Given the description of an element on the screen output the (x, y) to click on. 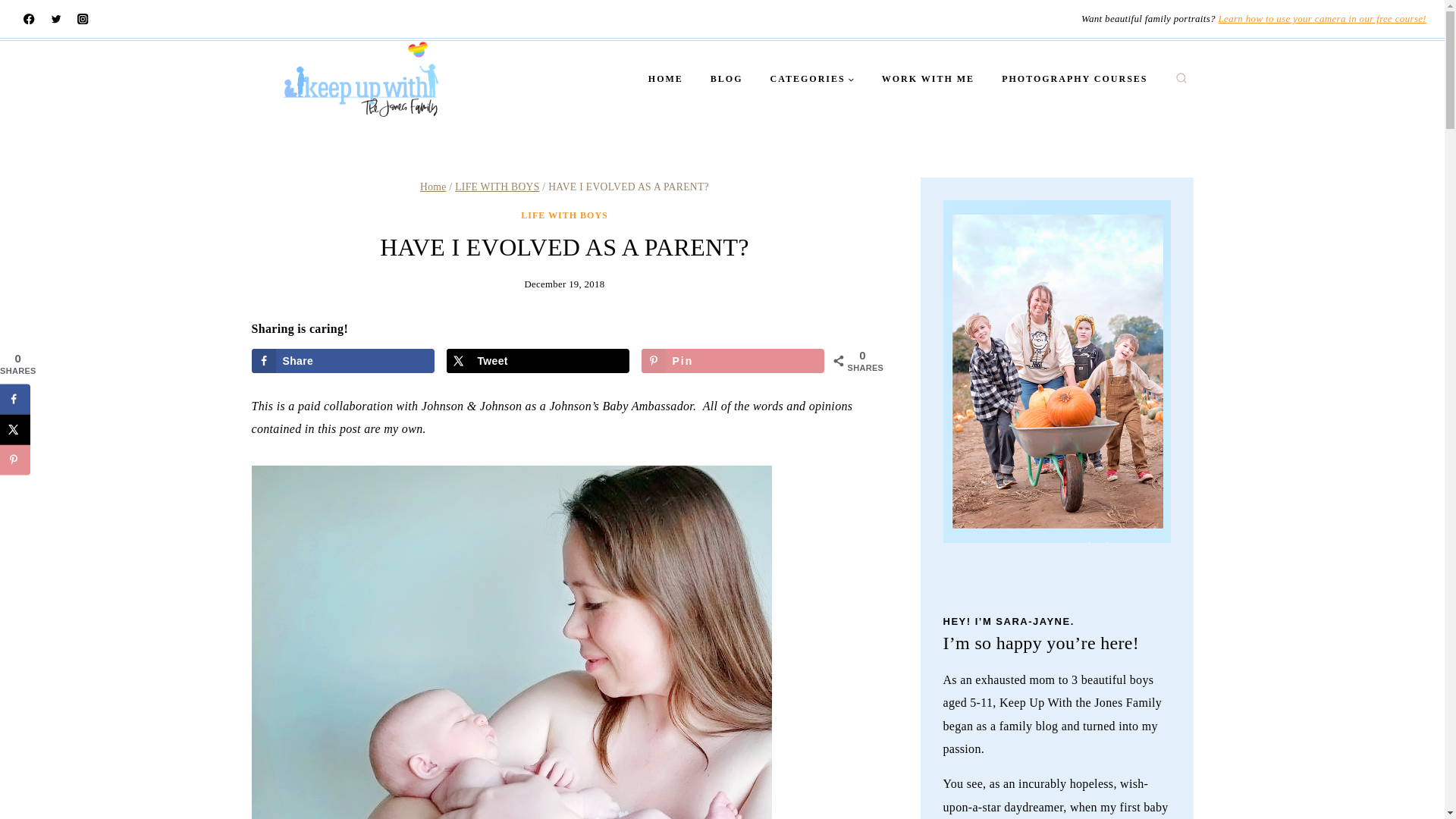
CATEGORIES (812, 79)
Home (433, 186)
Share on Facebook (343, 360)
Tweet (538, 360)
WORK WITH ME (927, 79)
HOME (665, 79)
LIFE WITH BOYS (564, 214)
PHOTOGRAPHY COURSES (1074, 79)
BLOG (727, 79)
Share on Facebook (15, 399)
Pin (733, 360)
Learn how to use your camera in our free course! (1322, 18)
Share (343, 360)
Save to Pinterest (15, 459)
Save to Pinterest (733, 360)
